Given the description of an element on the screen output the (x, y) to click on. 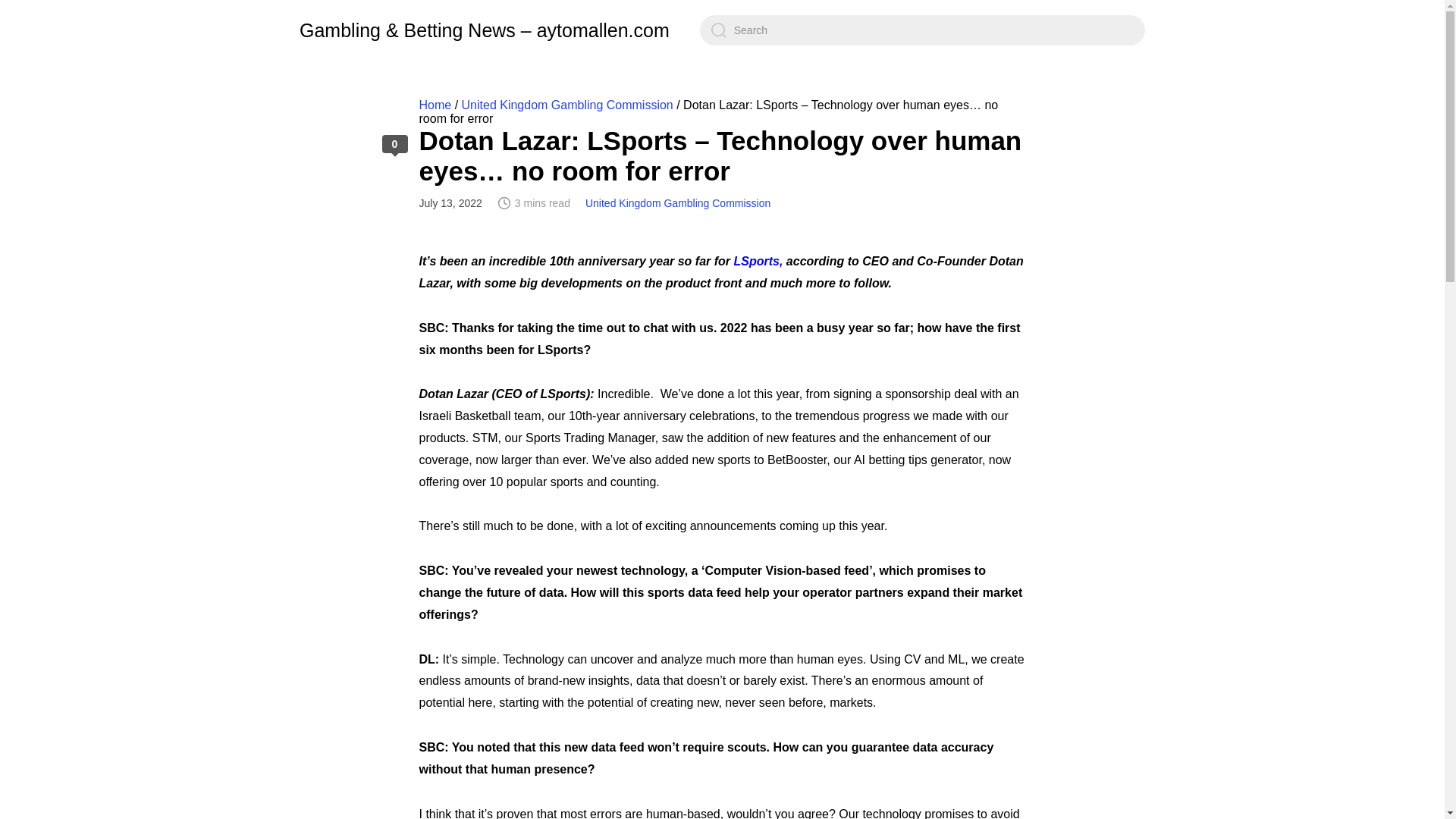
United Kingdom Gambling Commission (566, 104)
Home (435, 104)
United Kingdom Gambling Commission (677, 203)
0 (394, 144)
